Given the description of an element on the screen output the (x, y) to click on. 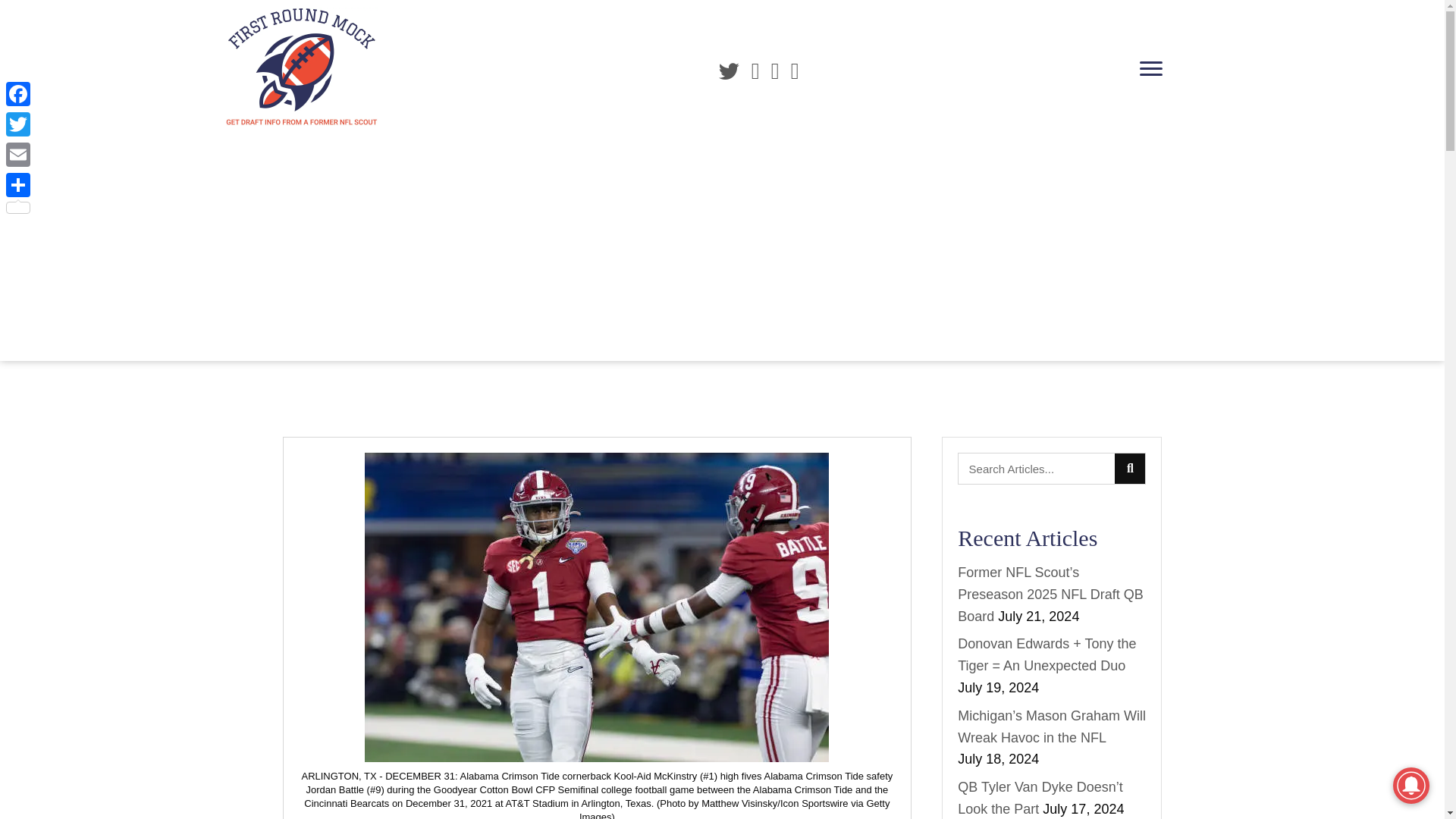
Search (1036, 468)
